Given the description of an element on the screen output the (x, y) to click on. 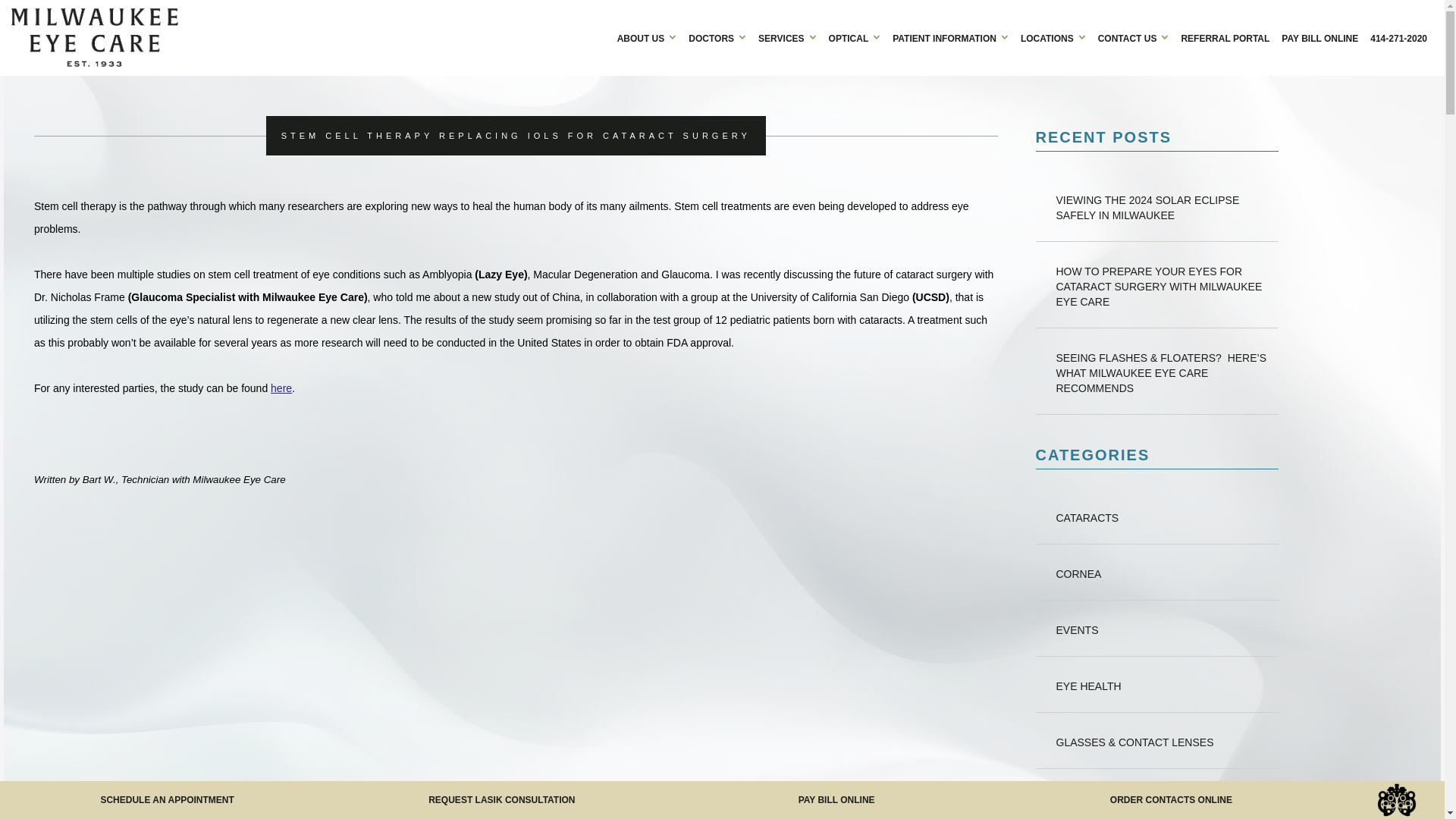
OPTICAL (854, 38)
PATIENT INFORMATION (950, 38)
Doctors (717, 38)
SERVICES (787, 38)
About Milwaukee Eye Care (646, 38)
DOCTORS (717, 38)
Click Here for the Homepage (311, 37)
ABOUT US (646, 38)
Services (787, 38)
